Given the description of an element on the screen output the (x, y) to click on. 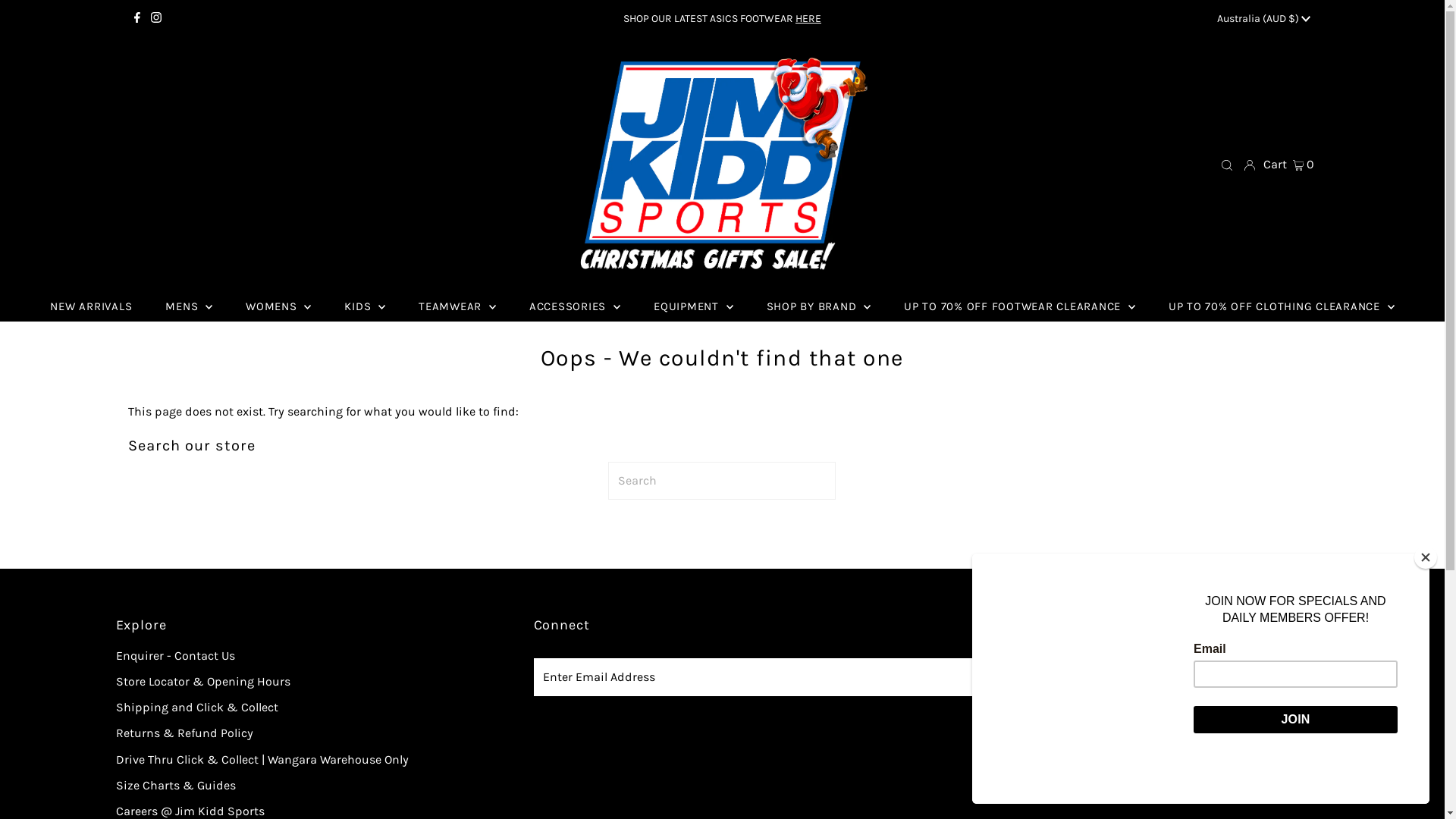
NEW ARRIVALS Element type: text (90, 306)
Enquirer - Contact Us Element type: text (174, 655)
Careers @ Jim Kidd Sports Element type: text (189, 810)
Size Charts & Guides Element type: text (175, 785)
Join Element type: text (1227, 677)
Returns & Refund Policy Element type: text (183, 732)
Shipping and Click & Collect Element type: text (196, 706)
Store Locator & Opening Hours Element type: text (202, 681)
HERE Element type: text (808, 18)
Drive Thru Click & Collect | Wangara Warehouse Only Element type: text (261, 759)
